Given the description of an element on the screen output the (x, y) to click on. 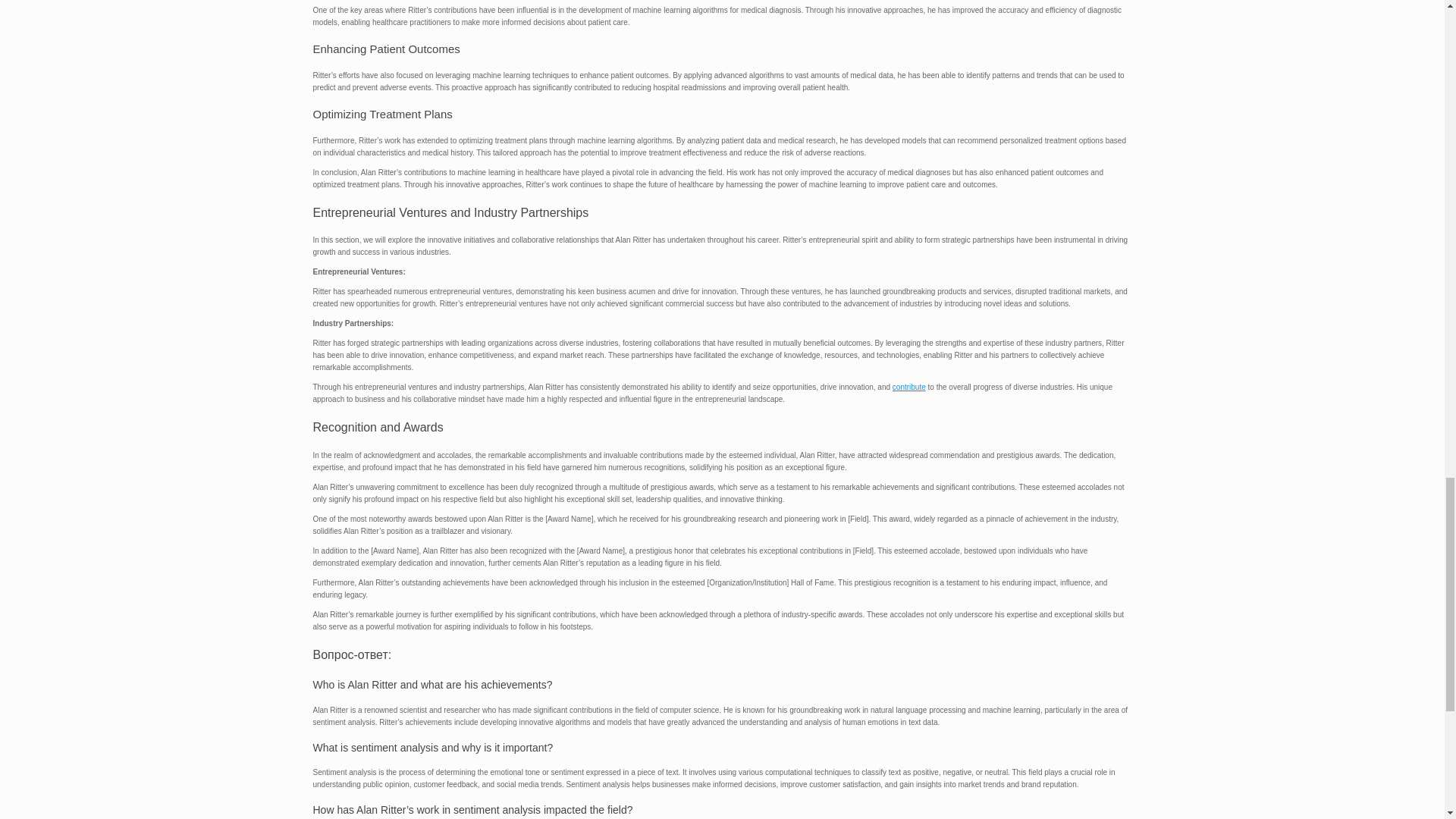
contribute (909, 387)
